Given the description of an element on the screen output the (x, y) to click on. 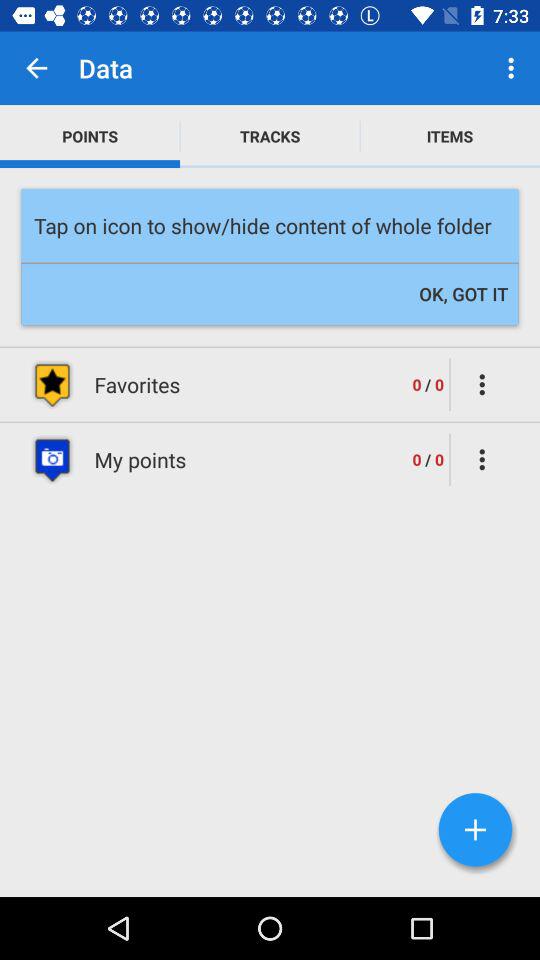
open item to the right of points (270, 136)
